Given the description of an element on the screen output the (x, y) to click on. 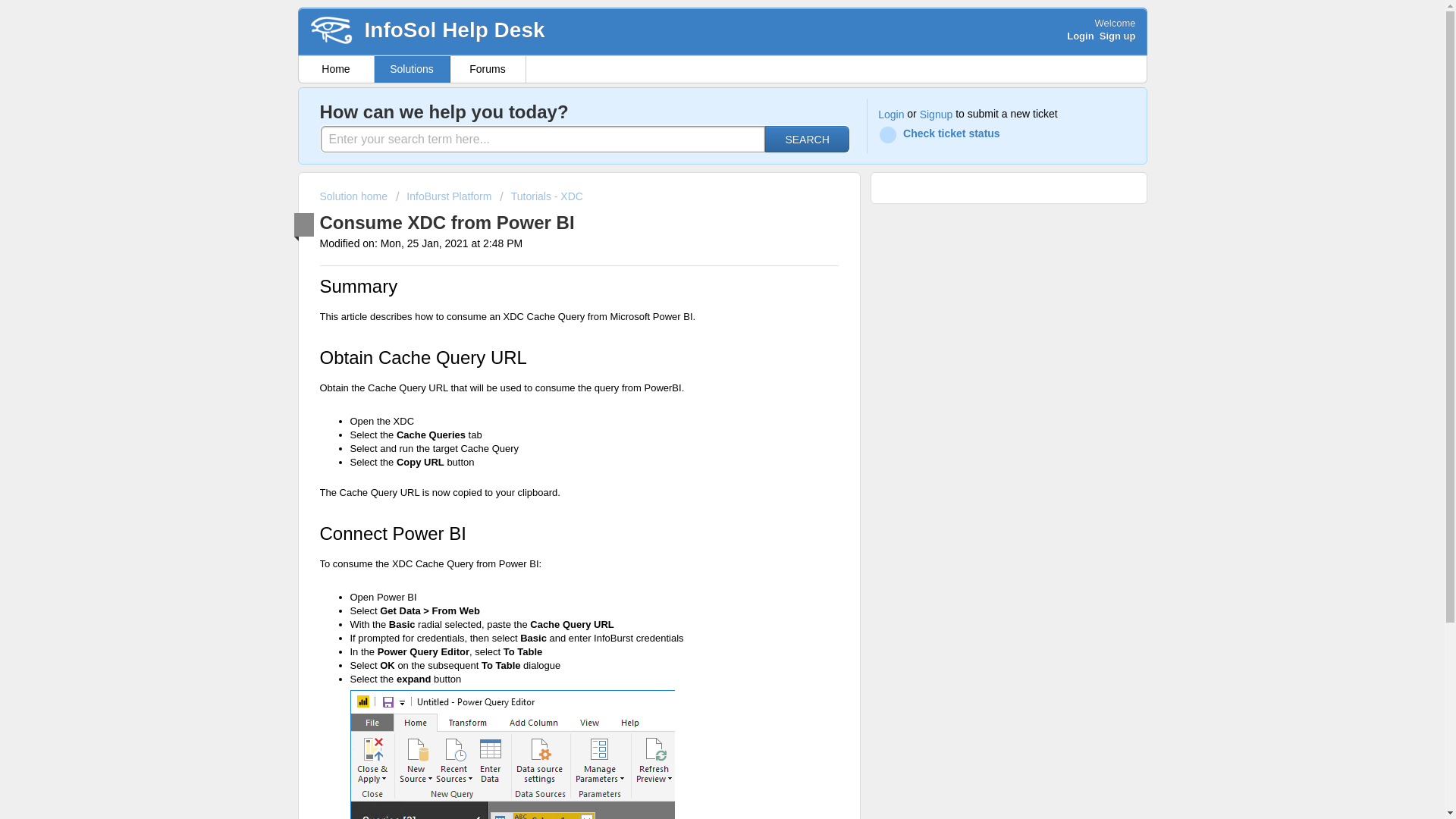
Check ticket status (941, 134)
InfoBurst Platform (444, 196)
Signup (936, 115)
Sign up (1117, 35)
Login (1080, 35)
Tutorials - XDC (541, 196)
SEARCH (807, 139)
Login (890, 115)
Check ticket status (941, 134)
Solutions (411, 69)
Forums (487, 69)
Home (336, 69)
Solution home (355, 196)
Print this Article (587, 220)
